Given the description of an element on the screen output the (x, y) to click on. 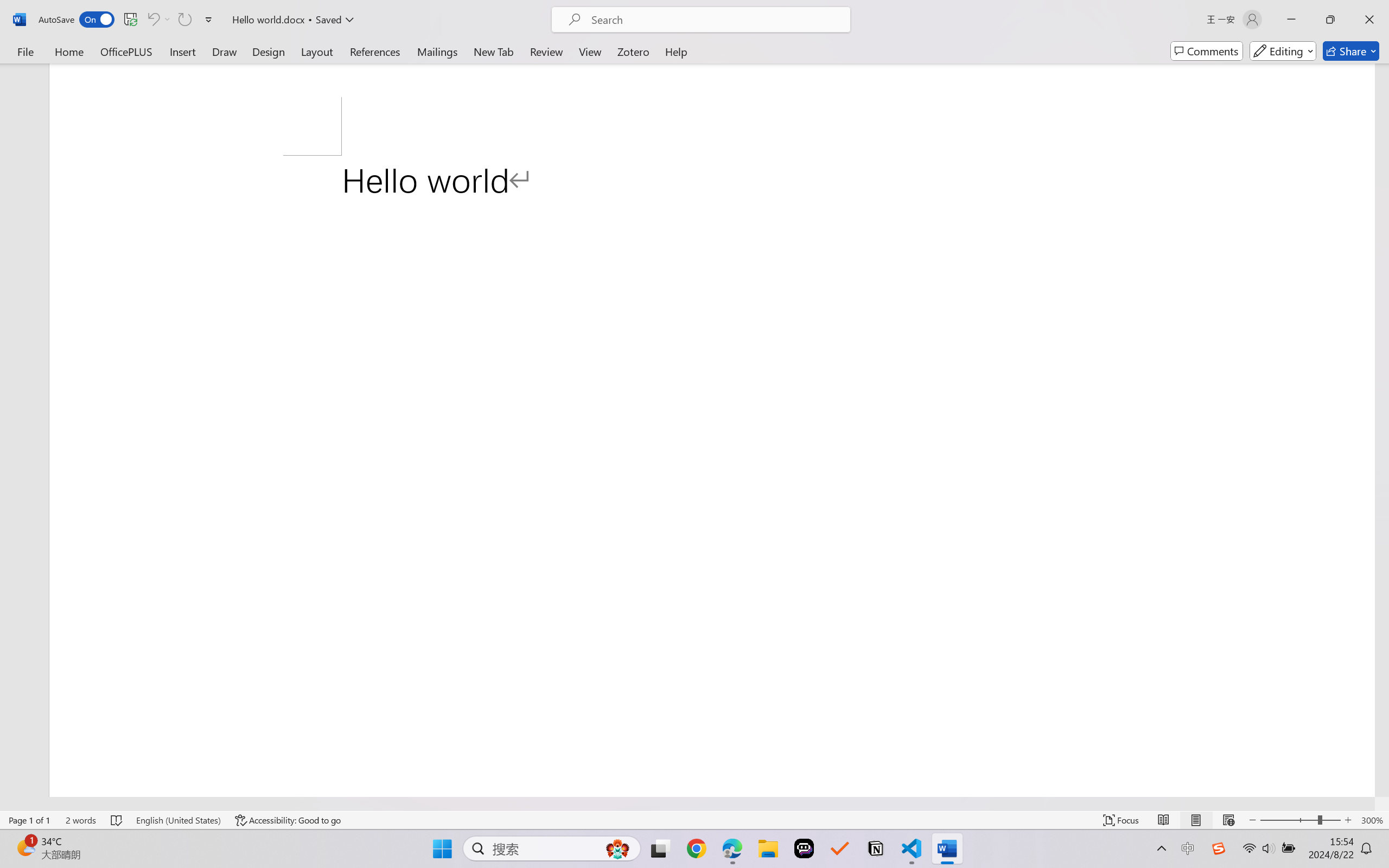
Microsoft search (715, 19)
Share (1350, 51)
Zoom Out (1288, 819)
Mailings (437, 51)
New Tab (493, 51)
Home (69, 51)
Comments (1206, 50)
OfficePLUS (126, 51)
